Given the description of an element on the screen output the (x, y) to click on. 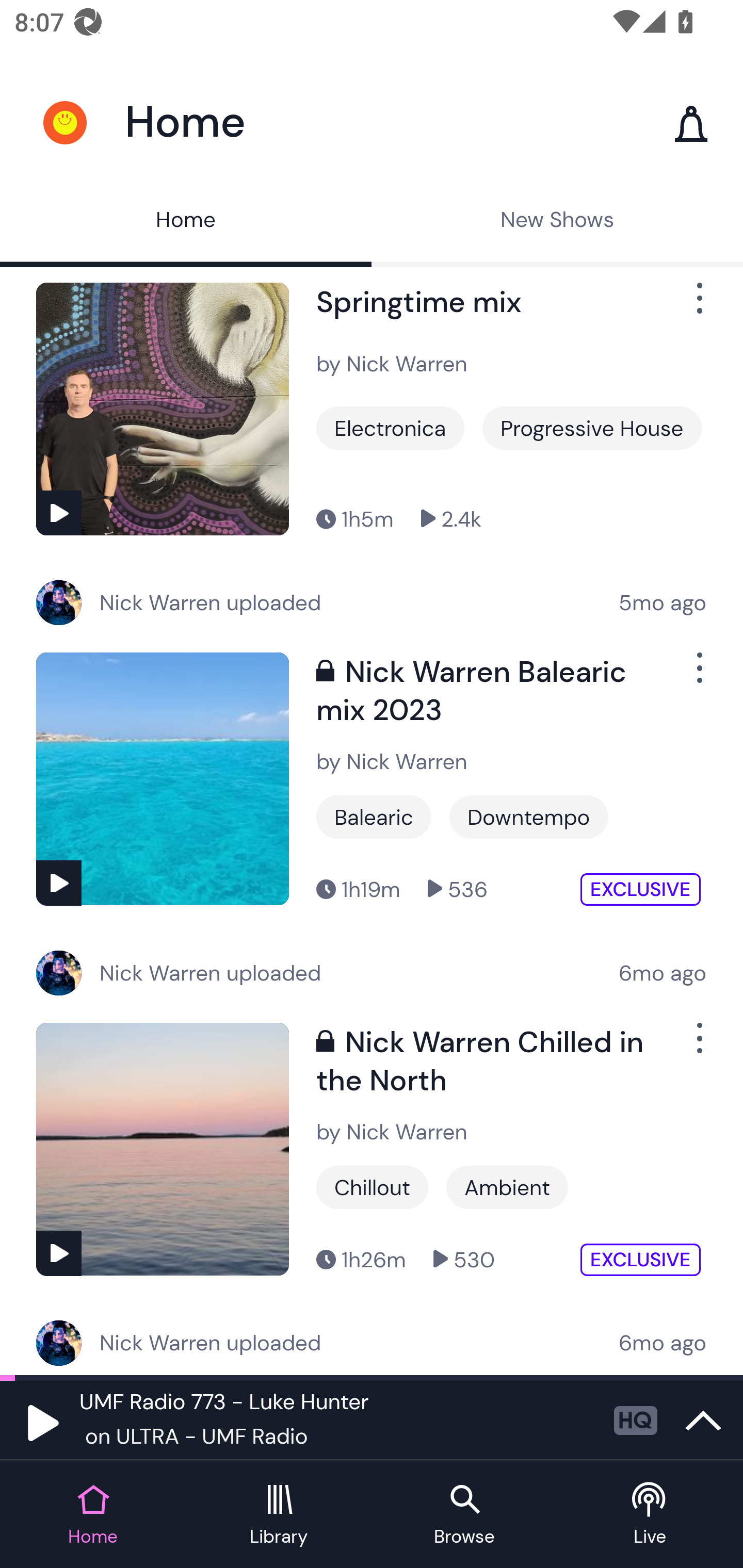
Home (185, 221)
New Shows (557, 221)
Show Options Menu Button (697, 305)
Electronica (390, 428)
Progressive House (591, 428)
Show Options Menu Button (697, 675)
Balearic (373, 816)
Downtempo (528, 816)
Show Options Menu Button (697, 1045)
Chillout (371, 1186)
Ambient (507, 1186)
Home tab Home (92, 1515)
Library tab Library (278, 1515)
Browse tab Browse (464, 1515)
Live tab Live (650, 1515)
